Given the description of an element on the screen output the (x, y) to click on. 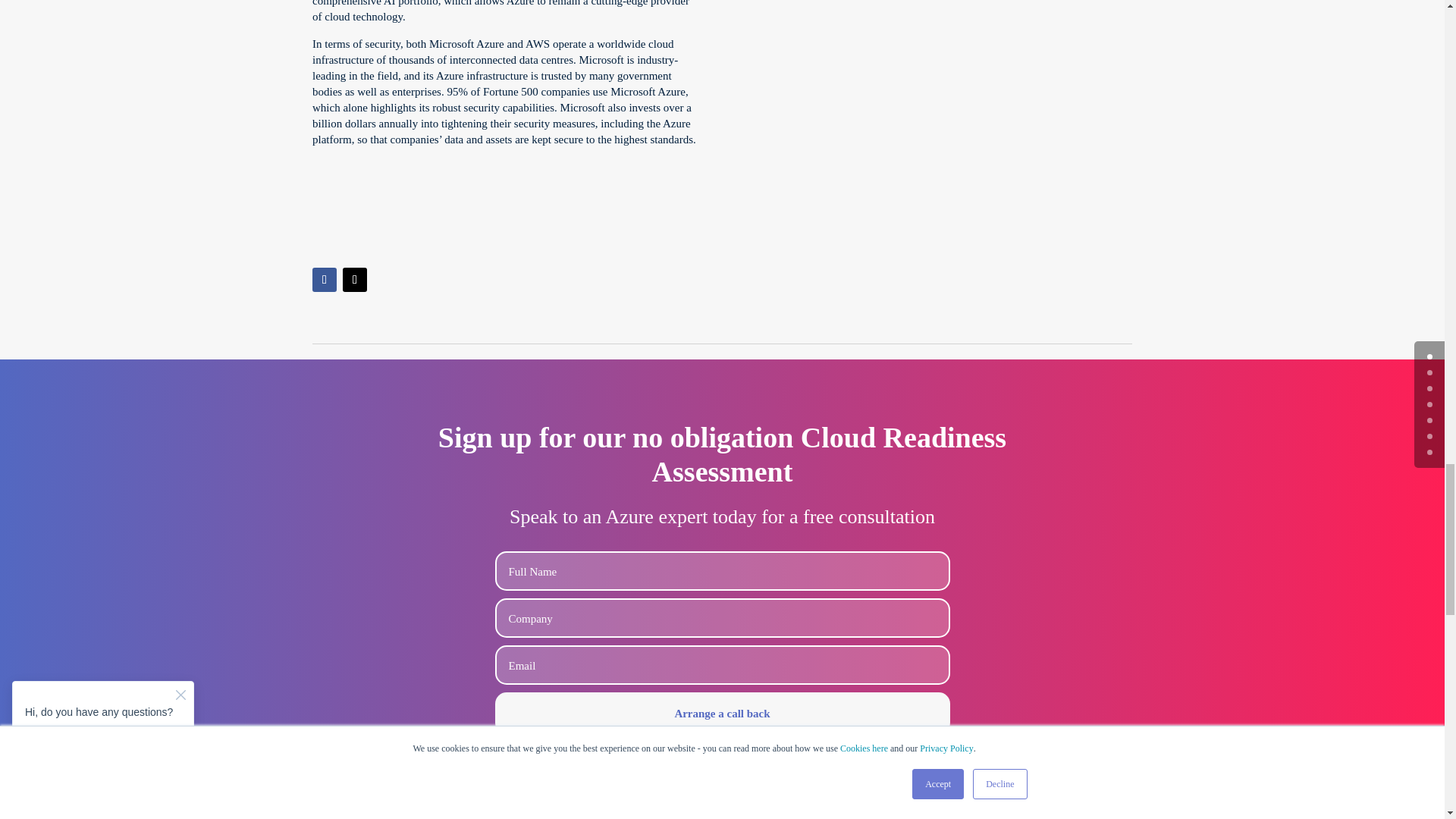
Arrange a call back (722, 713)
Follow on X (354, 279)
Follow on Facebook (324, 279)
